Given the description of an element on the screen output the (x, y) to click on. 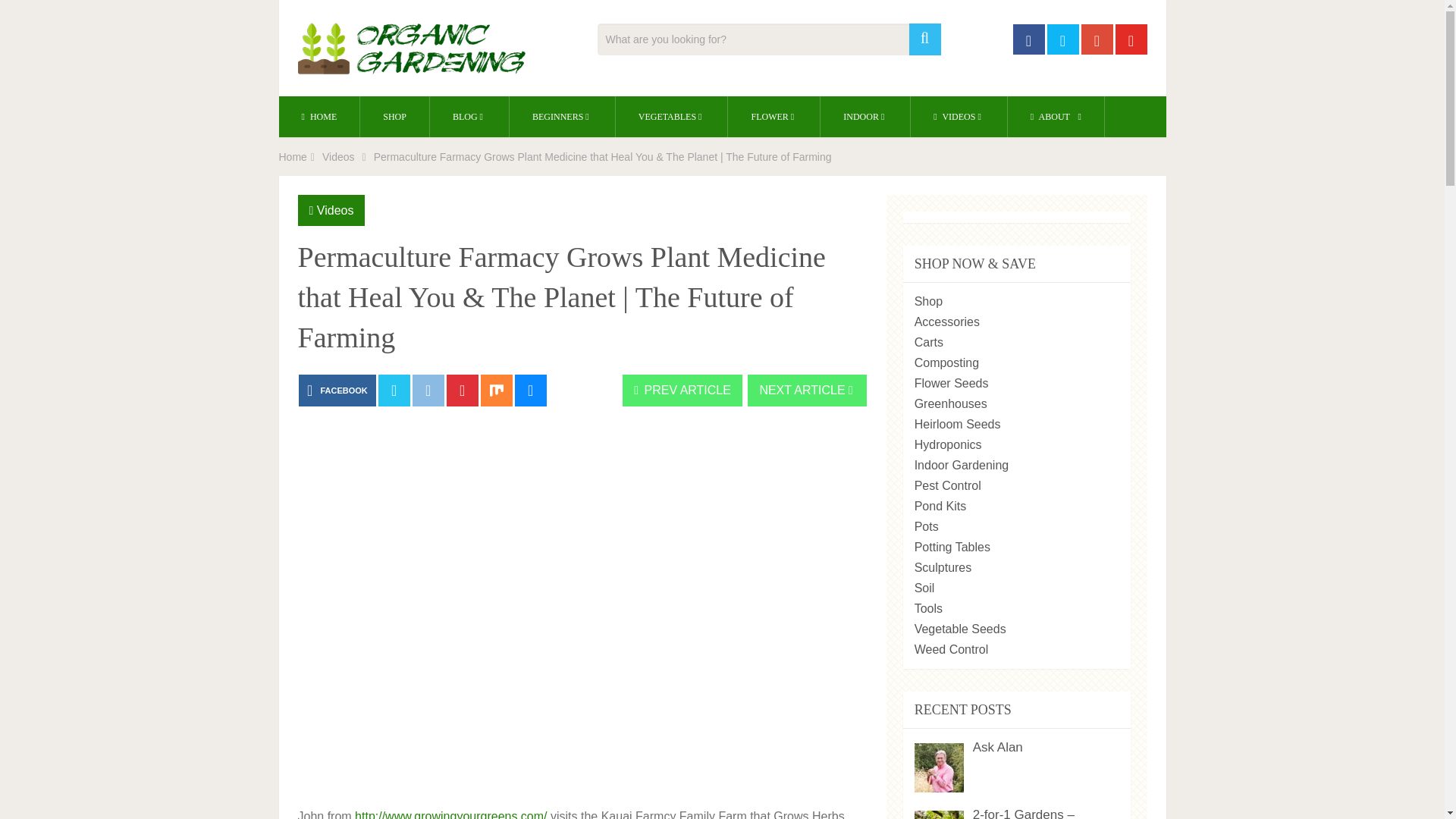
Videos (338, 156)
FLOWER (773, 116)
BEGINNERS (561, 116)
VIDEOS (959, 116)
Videos (335, 210)
INDOOR (865, 116)
ABOUT (1055, 116)
SHOP (394, 116)
PREV ARTICLE (682, 390)
NEXT ARTICLE (807, 390)
